Given the description of an element on the screen output the (x, y) to click on. 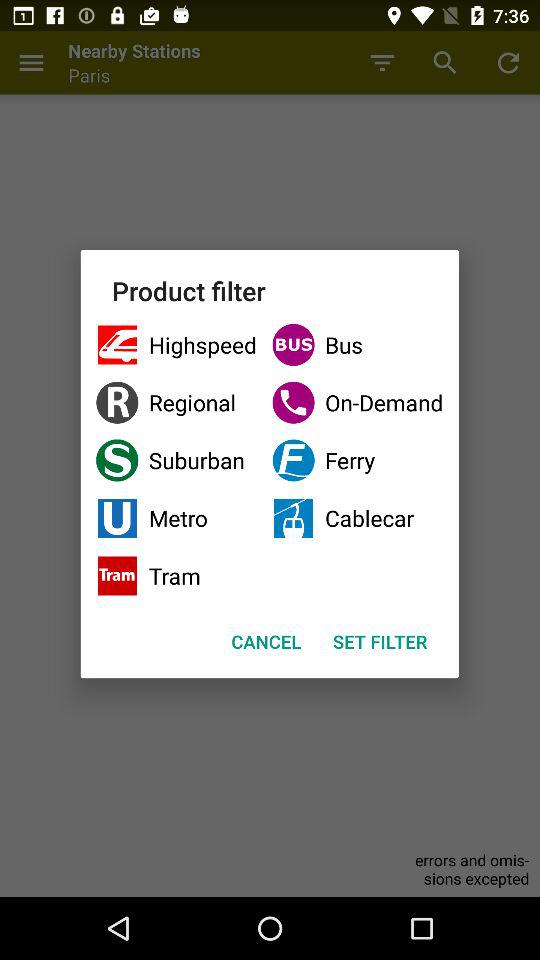
select checkbox next to the on-demand item (176, 460)
